Given the description of an element on the screen output the (x, y) to click on. 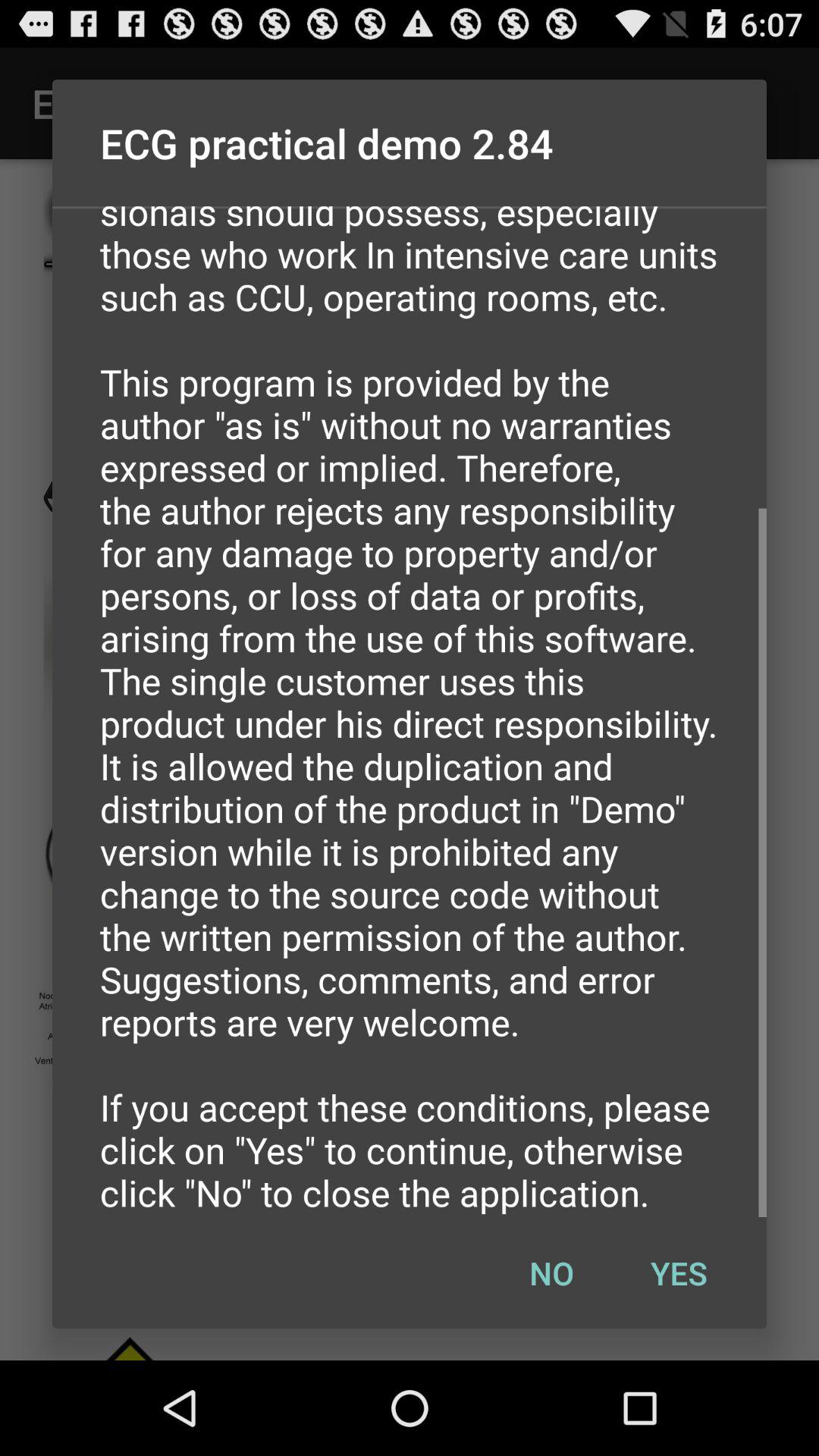
turn off no icon (551, 1272)
